Given the description of an element on the screen output the (x, y) to click on. 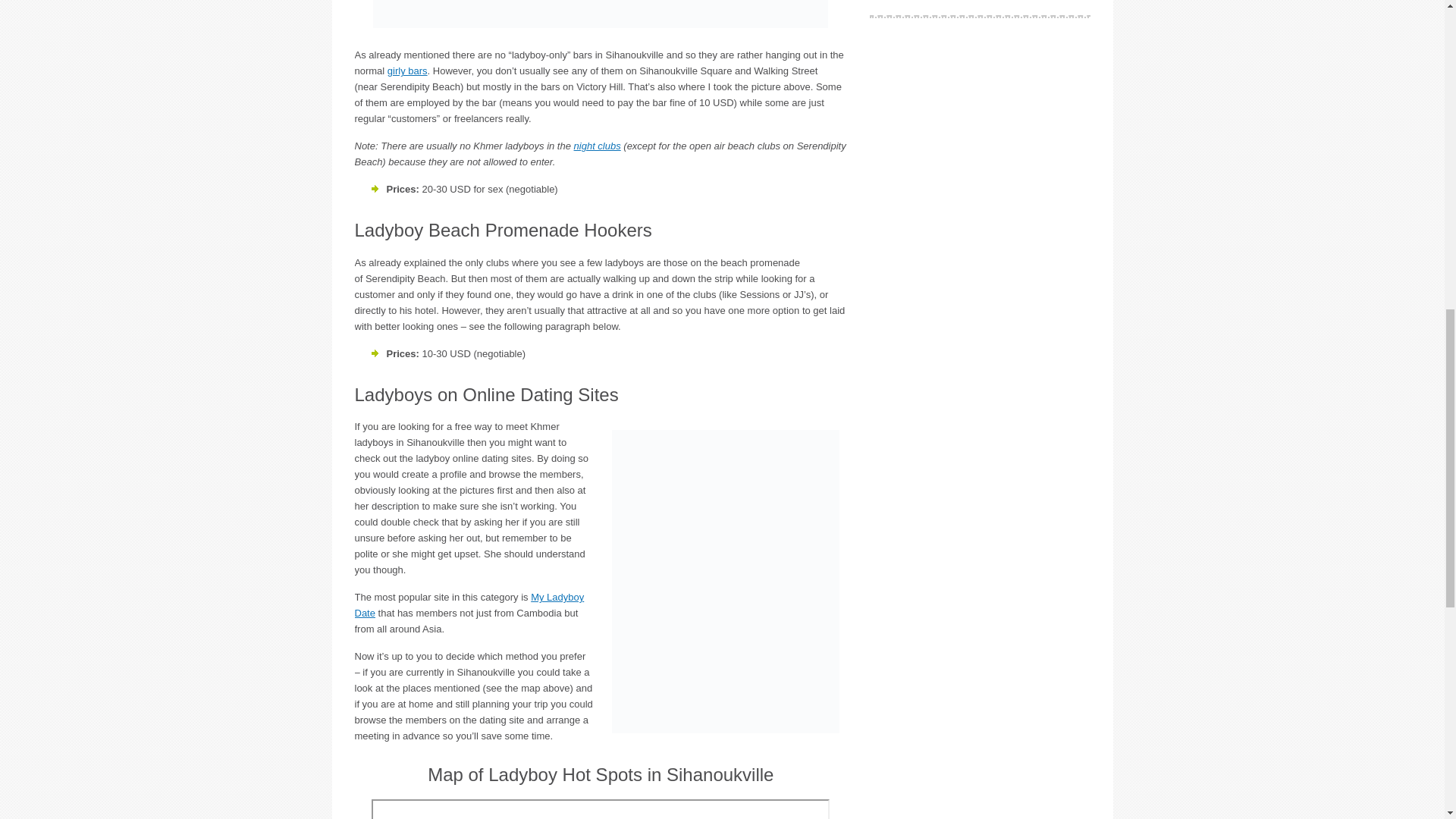
My Ladyboy Date (470, 605)
night clubs (597, 145)
girly bars (407, 70)
